Given the description of an element on the screen output the (x, y) to click on. 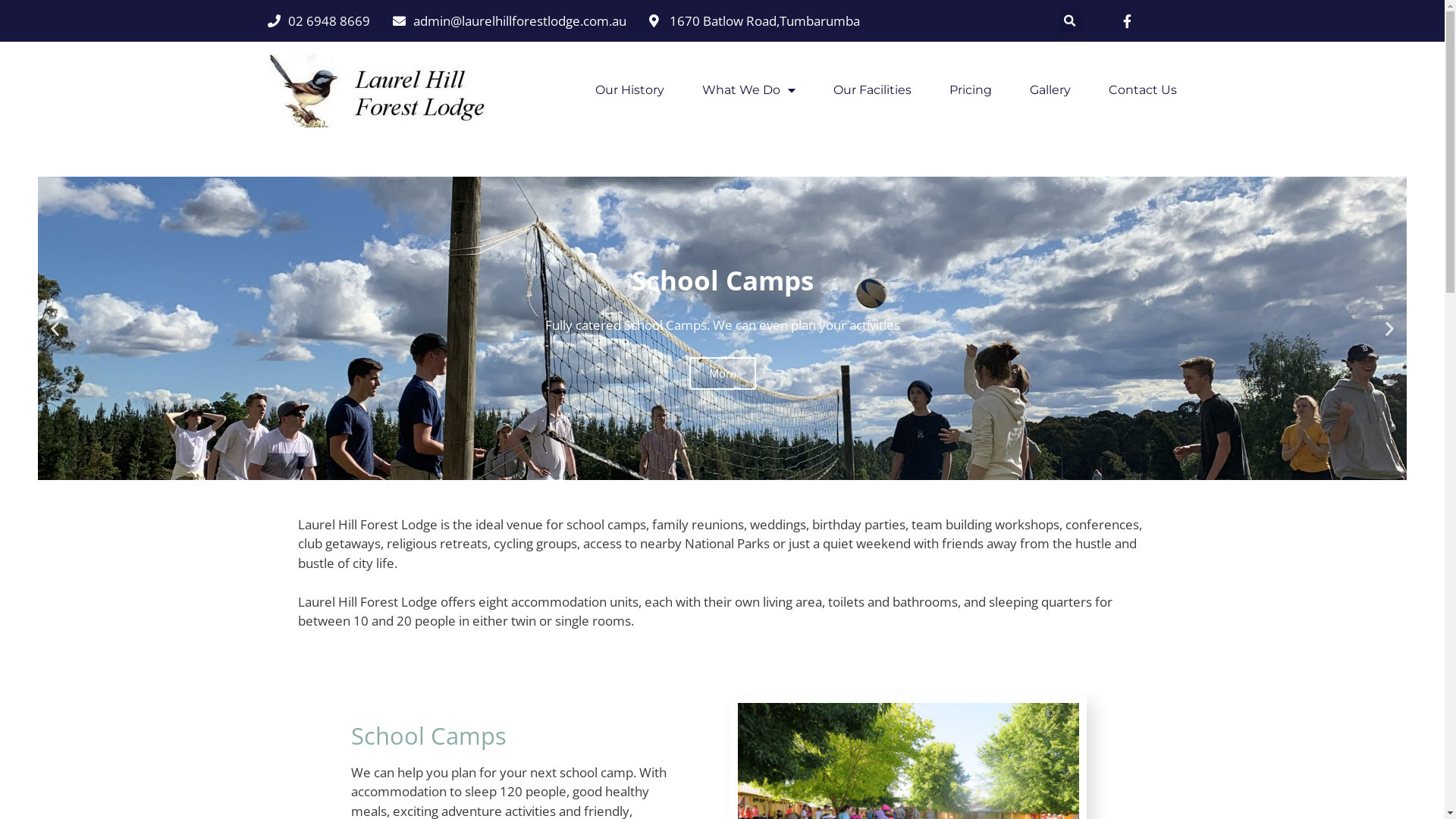
What We Do Element type: text (748, 89)
Our Facilities Element type: text (872, 89)
Our History Element type: text (629, 89)
Contact Us Element type: text (1142, 89)
1670 Batlow Road,Tumbarumba Element type: text (754, 21)
admin@laurelhillforestlodge.com.au Element type: text (509, 21)
Pricing Element type: text (970, 89)
Gallery Element type: text (1049, 89)
